Given the description of an element on the screen output the (x, y) to click on. 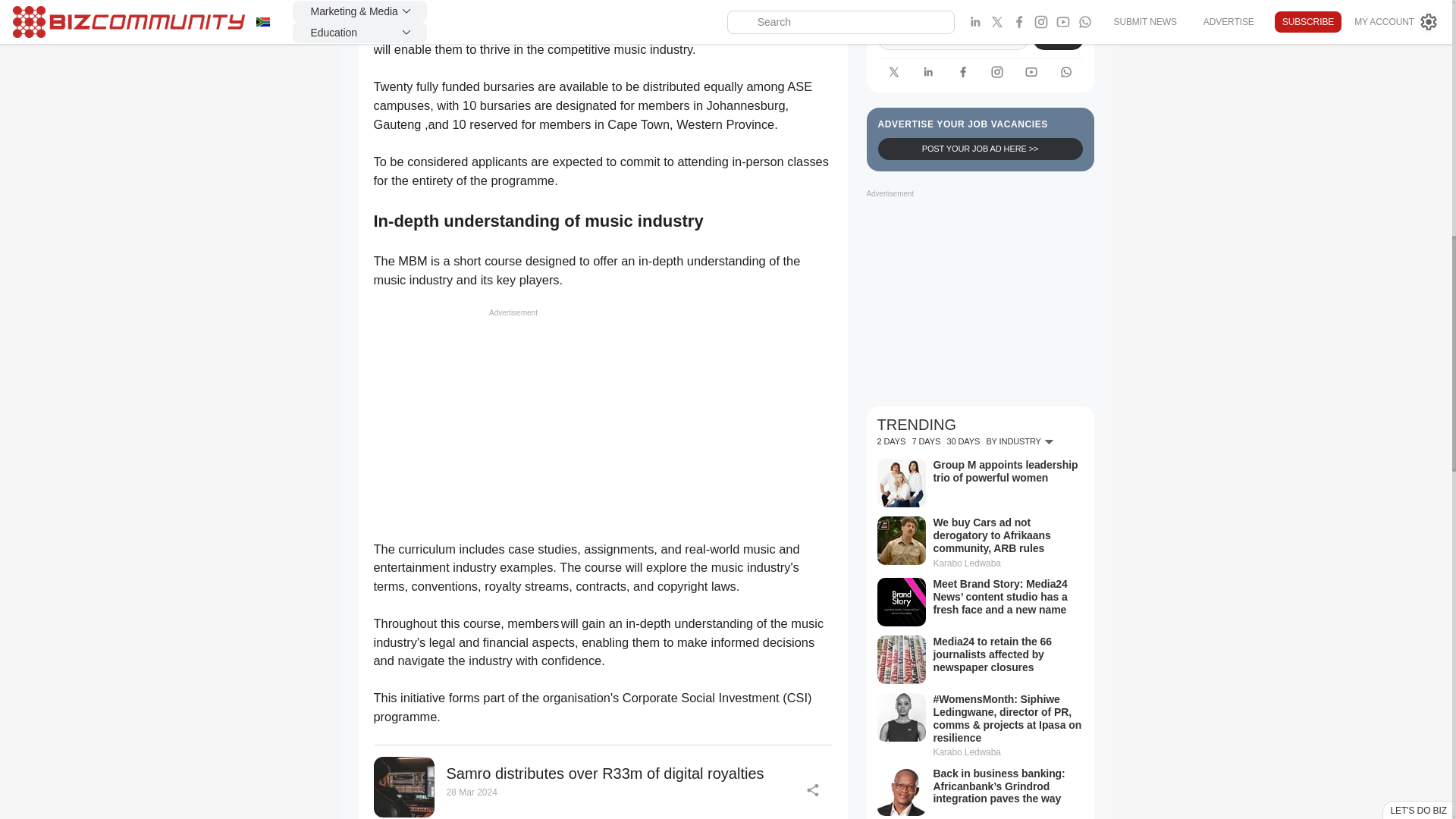
Bizcommunity facebook (962, 71)
Bizcommunity linked (927, 71)
